Given the description of an element on the screen output the (x, y) to click on. 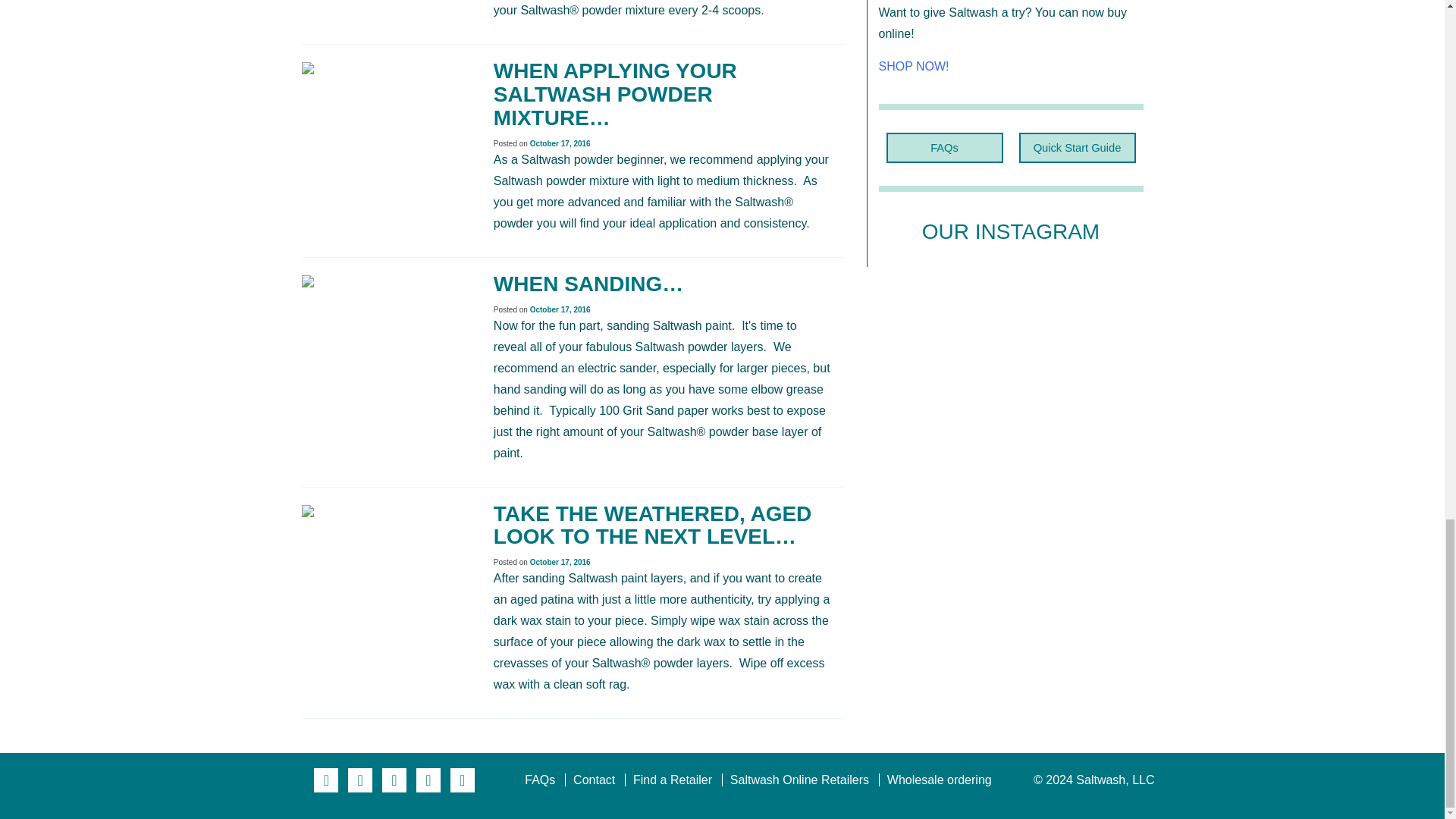
October 17, 2016 (560, 143)
